Given the description of an element on the screen output the (x, y) to click on. 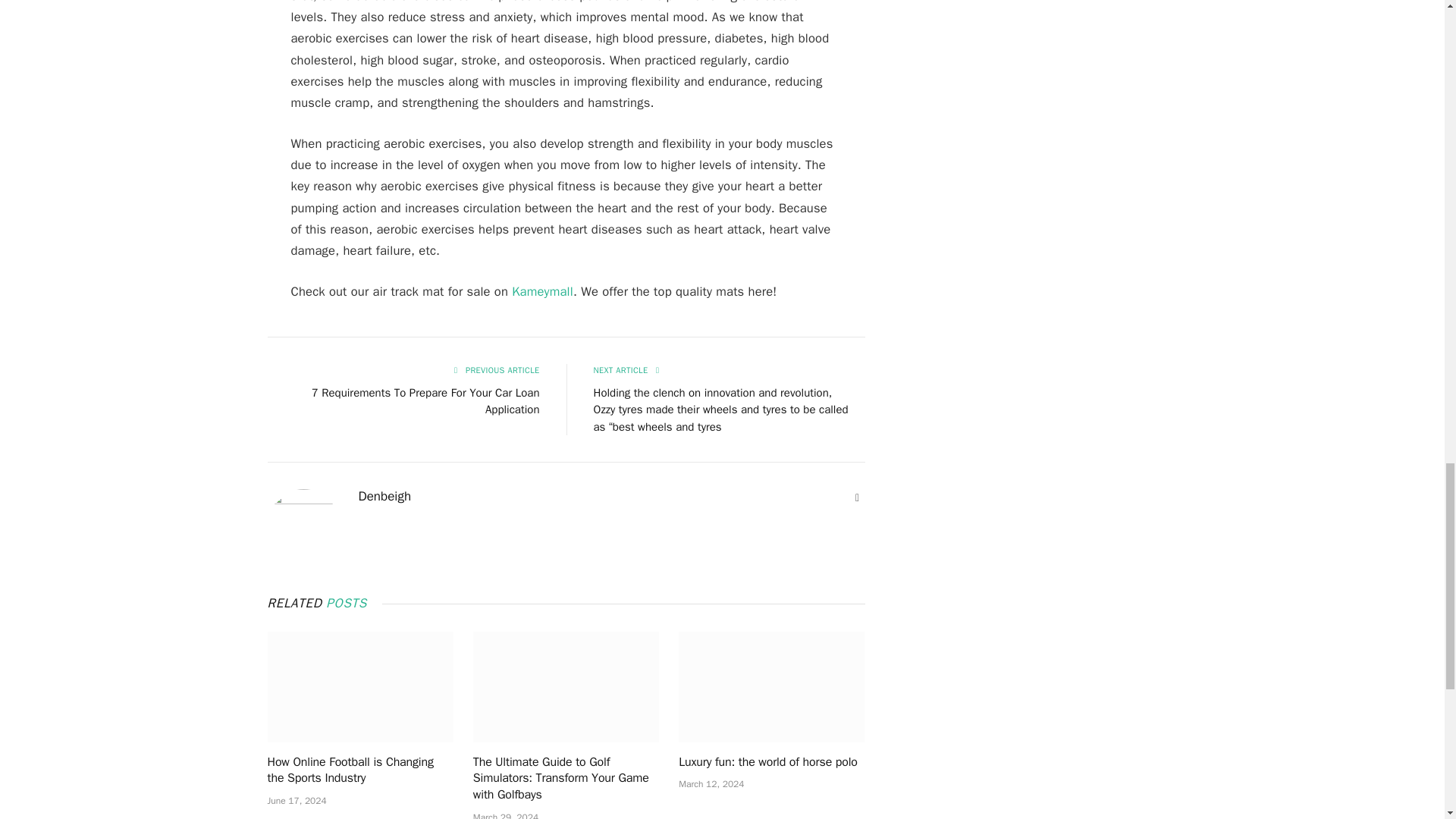
Luxury fun: the world of horse polo (771, 686)
Denbeigh (384, 496)
Website (856, 498)
7 Requirements To Prepare For Your Car Loan Application (425, 400)
How Online Football is Changing the Sports Industry (359, 686)
Posts by Denbeigh (384, 496)
Website (856, 498)
Kameymall (542, 291)
